Given the description of an element on the screen output the (x, y) to click on. 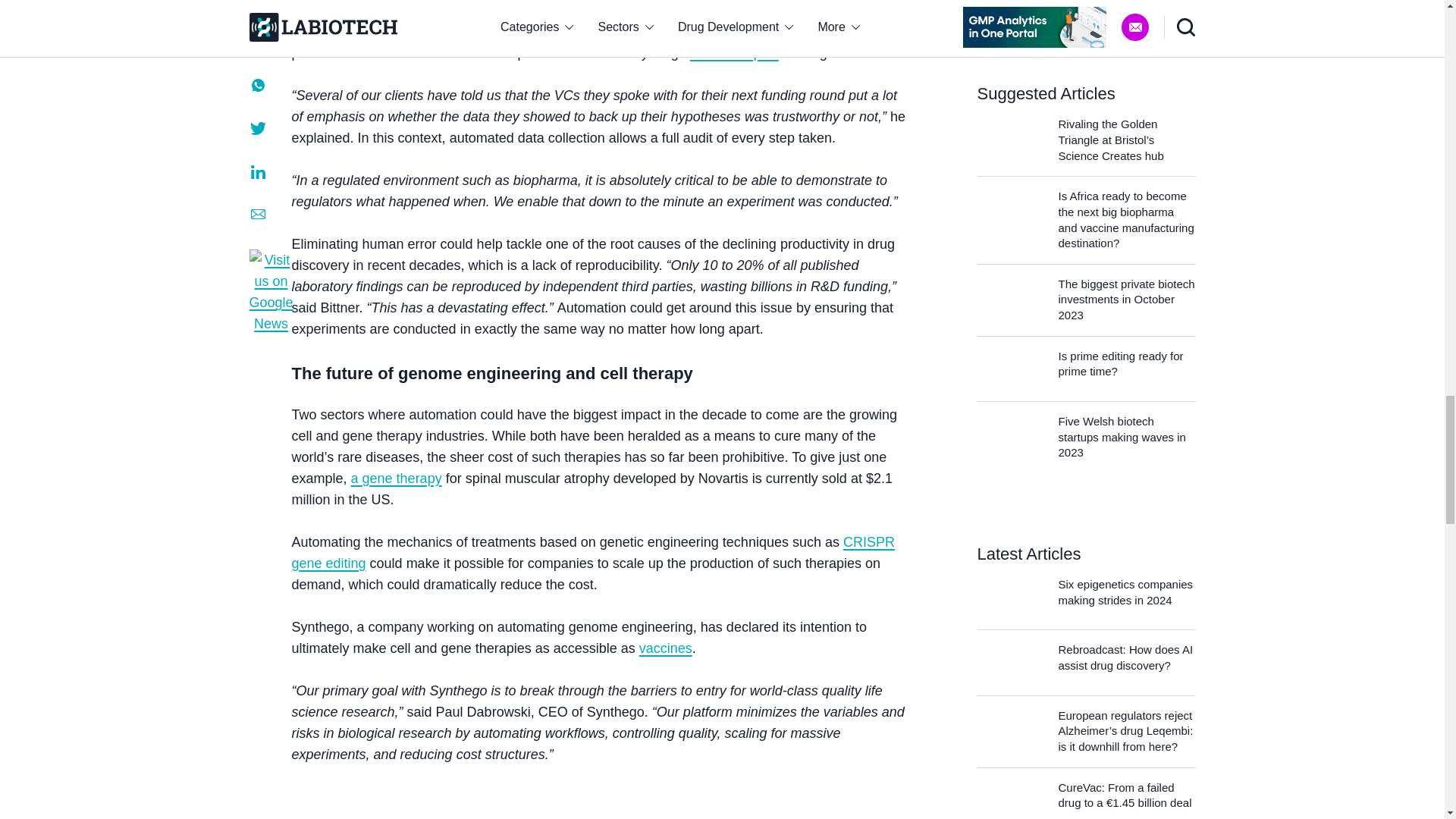
venture capital (734, 52)
vaccines (666, 648)
CRISPR gene editing (592, 552)
